Given the description of an element on the screen output the (x, y) to click on. 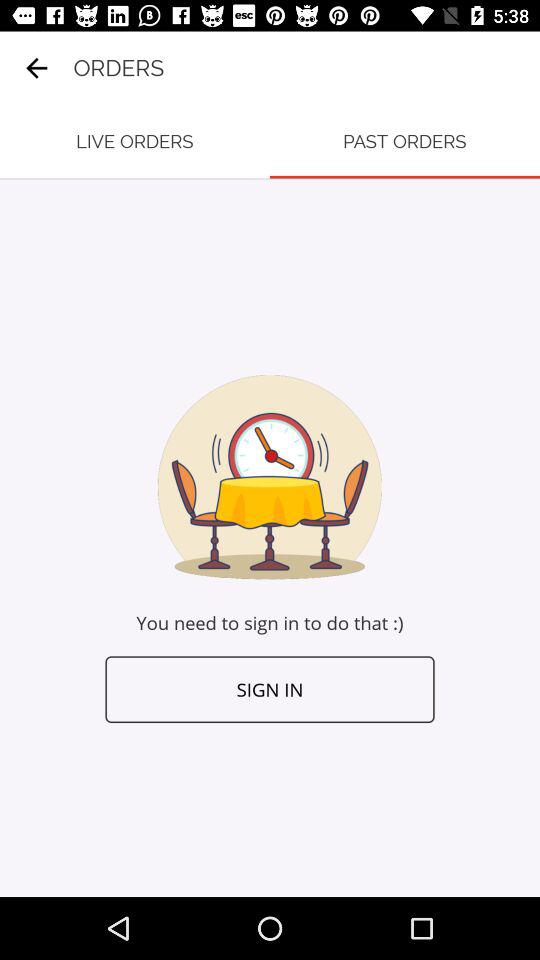
turn off the item to the left of orders icon (36, 68)
